Given the description of an element on the screen output the (x, y) to click on. 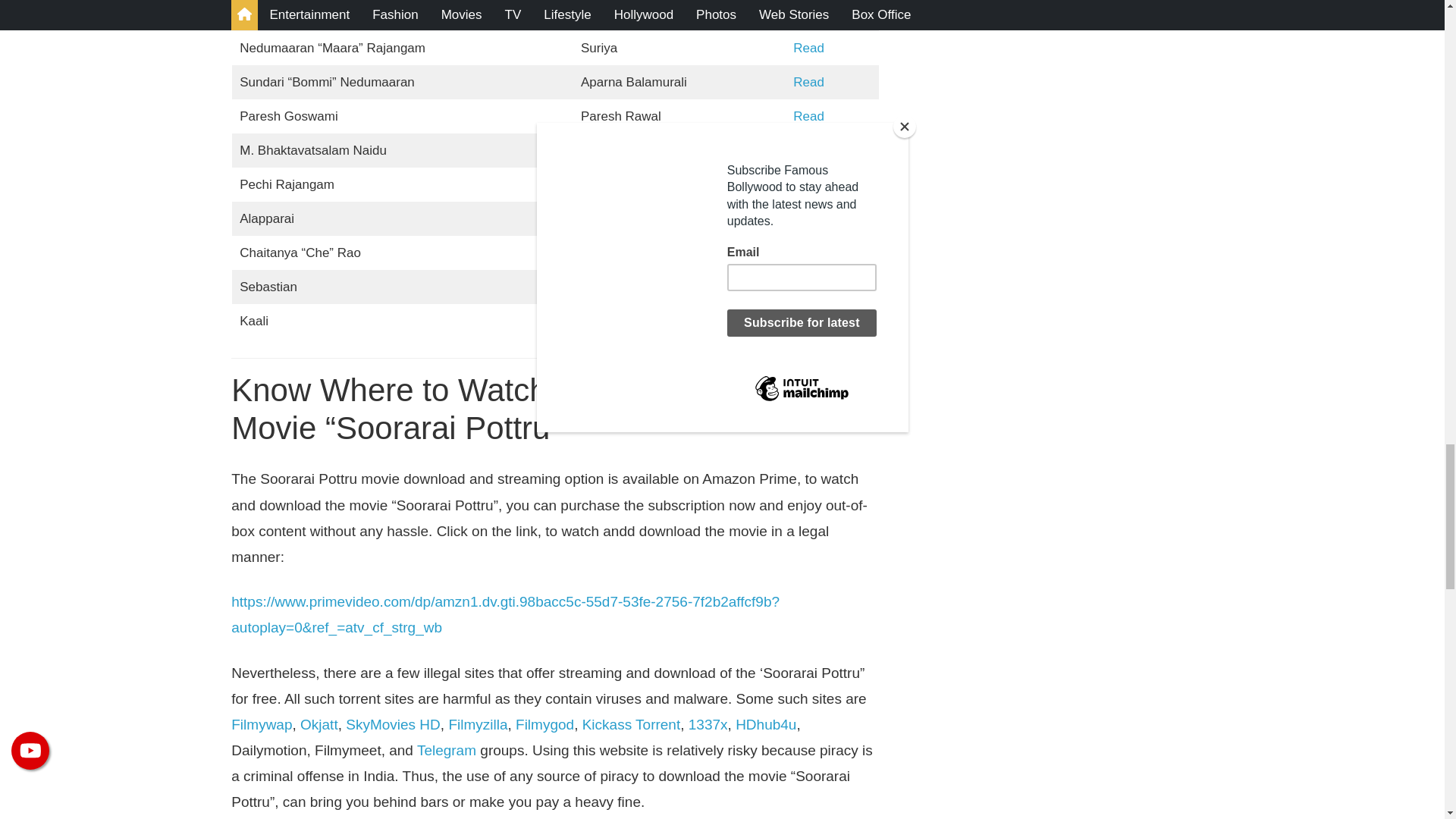
Read (808, 115)
Read (808, 82)
Read (808, 47)
